Given the description of an element on the screen output the (x, y) to click on. 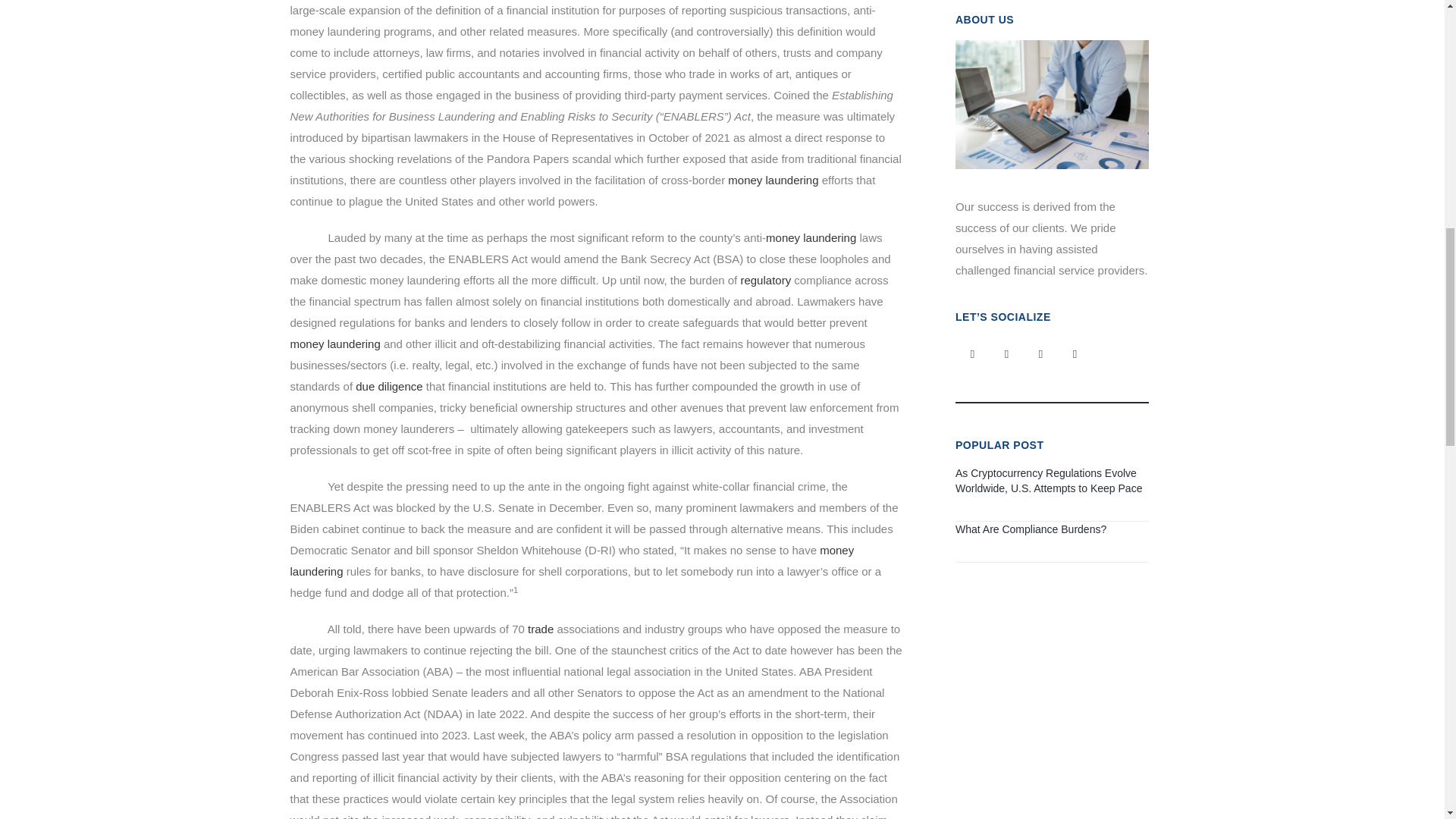
money laundering (334, 343)
money laundering (810, 237)
money laundering (773, 179)
trade (540, 628)
regulatory (764, 279)
due diligence (388, 386)
money laundering (571, 560)
